Given the description of an element on the screen output the (x, y) to click on. 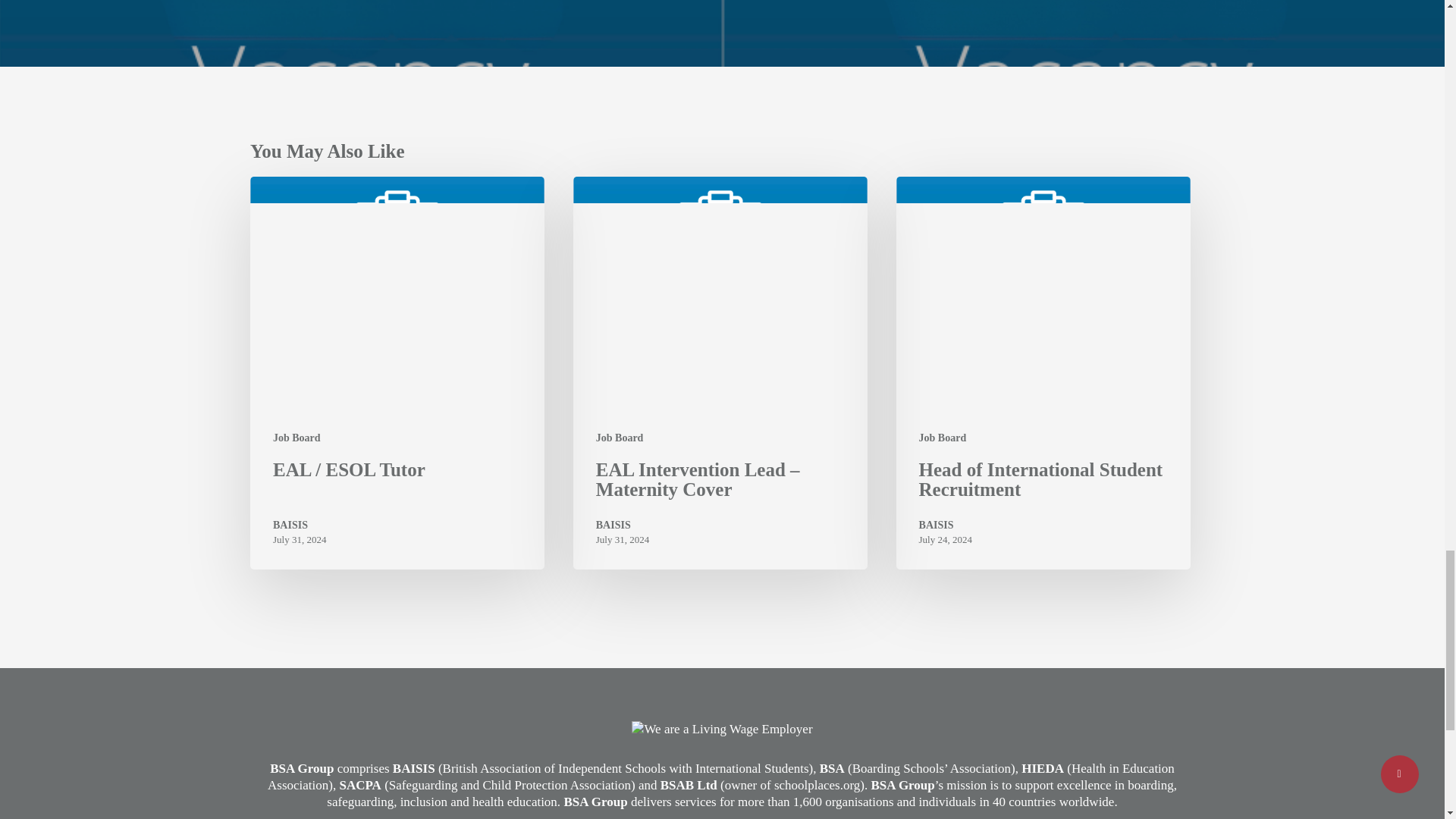
BAISIS (622, 525)
Job Board (619, 437)
BAISIS (299, 525)
Job Board (942, 437)
Job Board (296, 437)
